Given the description of an element on the screen output the (x, y) to click on. 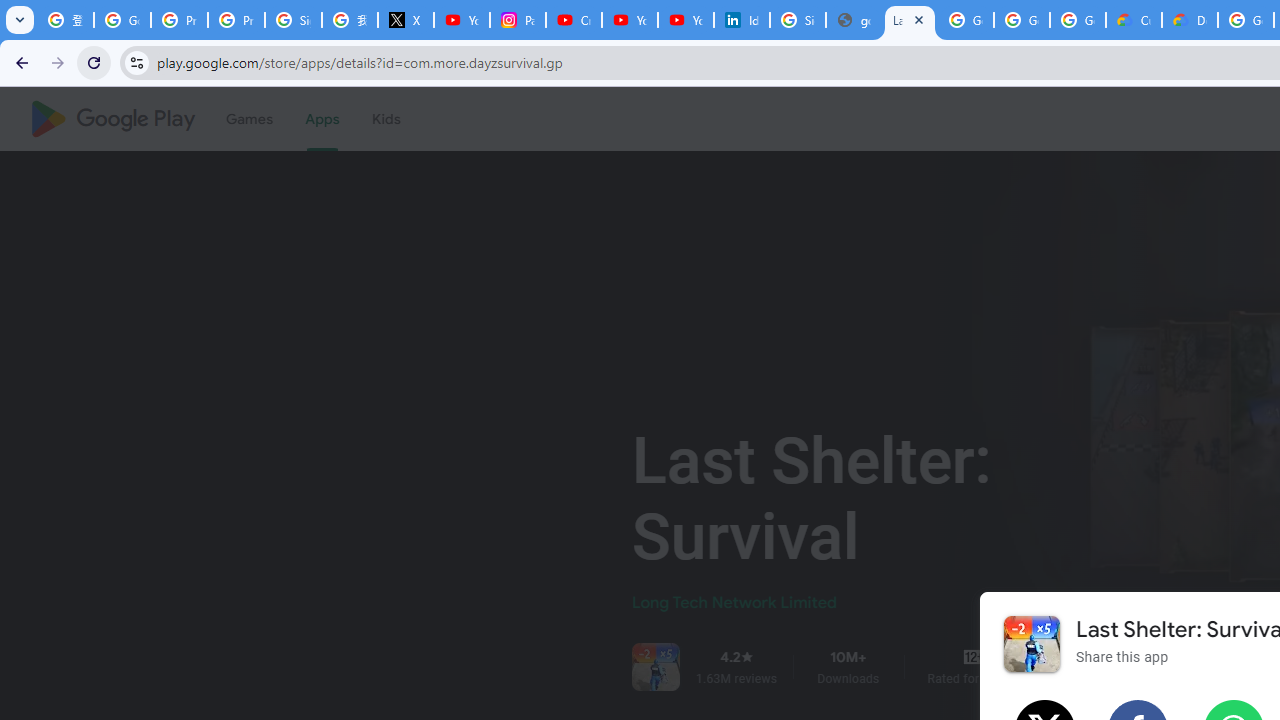
Google Workspace - Specific Terms (1021, 20)
X (405, 20)
Sign in - Google Accounts (293, 20)
Google Workspace - Specific Terms (1077, 20)
Sign in - Google Accounts (797, 20)
Privacy Help Center - Policies Help (179, 20)
